Given the description of an element on the screen output the (x, y) to click on. 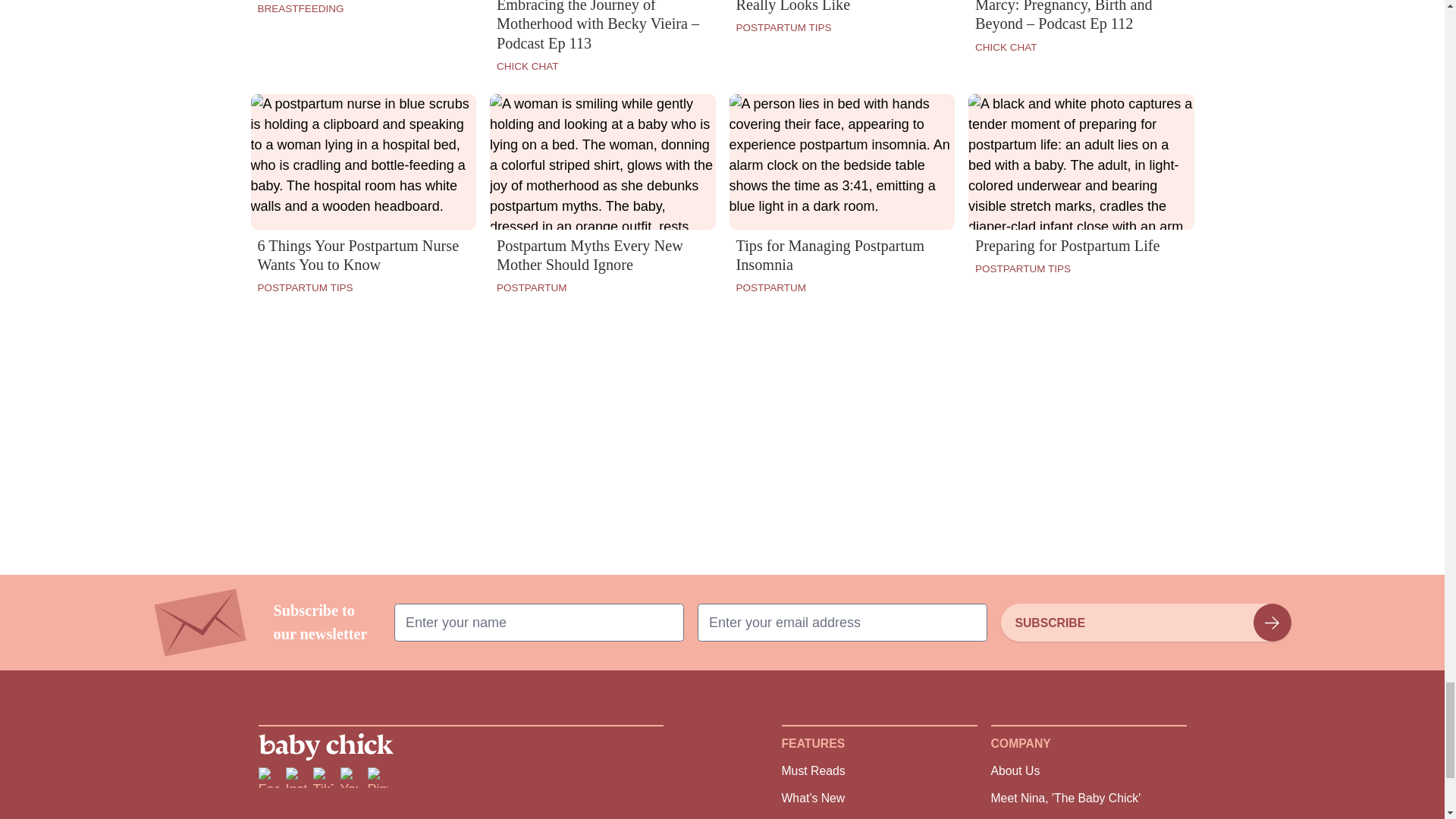
Subscribe (1145, 622)
